Given the description of an element on the screen output the (x, y) to click on. 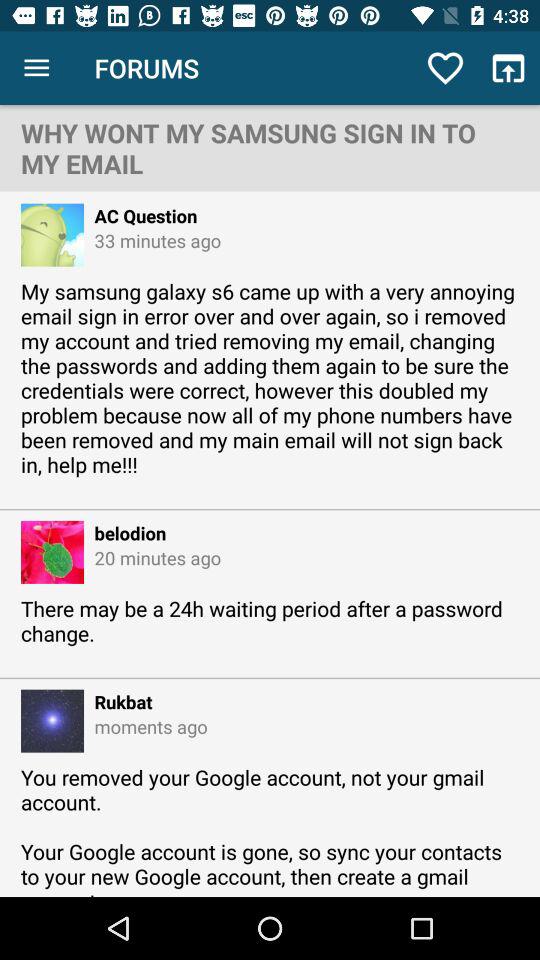
tap rukbat item (118, 701)
